Given the description of an element on the screen output the (x, y) to click on. 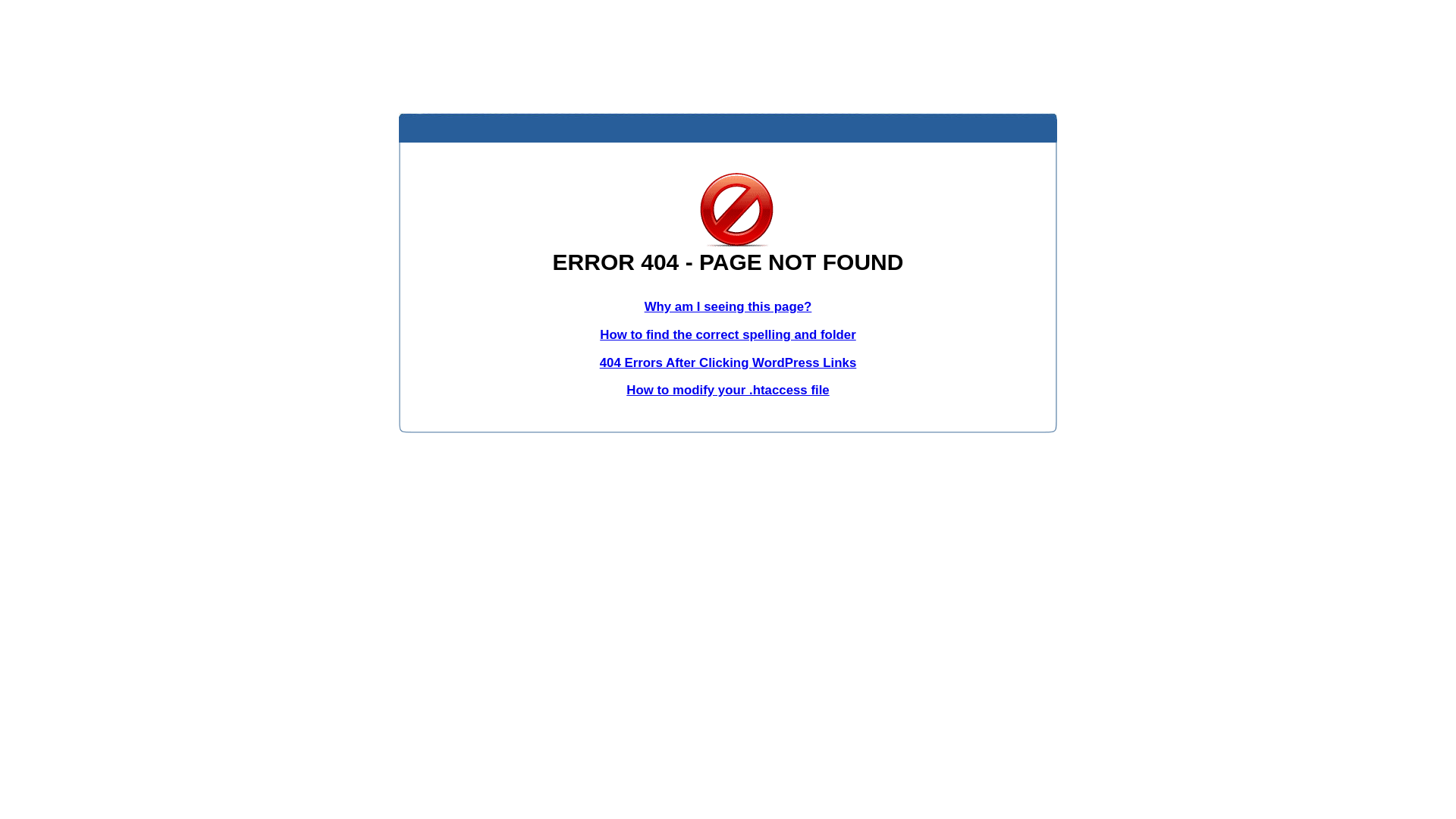
How to find the correct spelling and folder Element type: text (727, 334)
How to modify your .htaccess file Element type: text (727, 389)
404 Errors After Clicking WordPress Links Element type: text (727, 362)
Why am I seeing this page? Element type: text (728, 306)
